Given the description of an element on the screen output the (x, y) to click on. 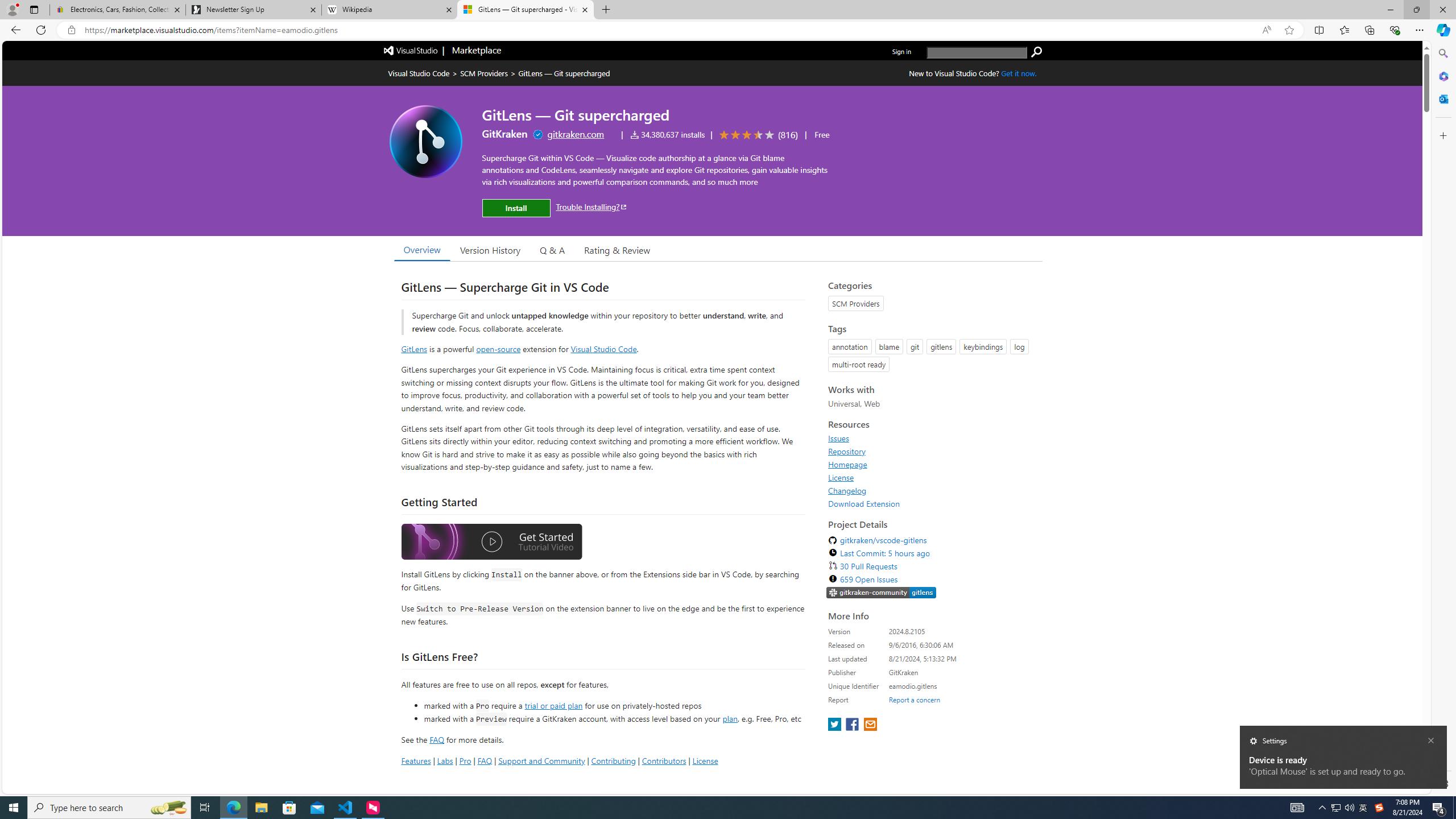
GitLens (414, 348)
share extension on email (869, 725)
Watch the GitLens Getting Started video (491, 543)
